Given the description of an element on the screen output the (x, y) to click on. 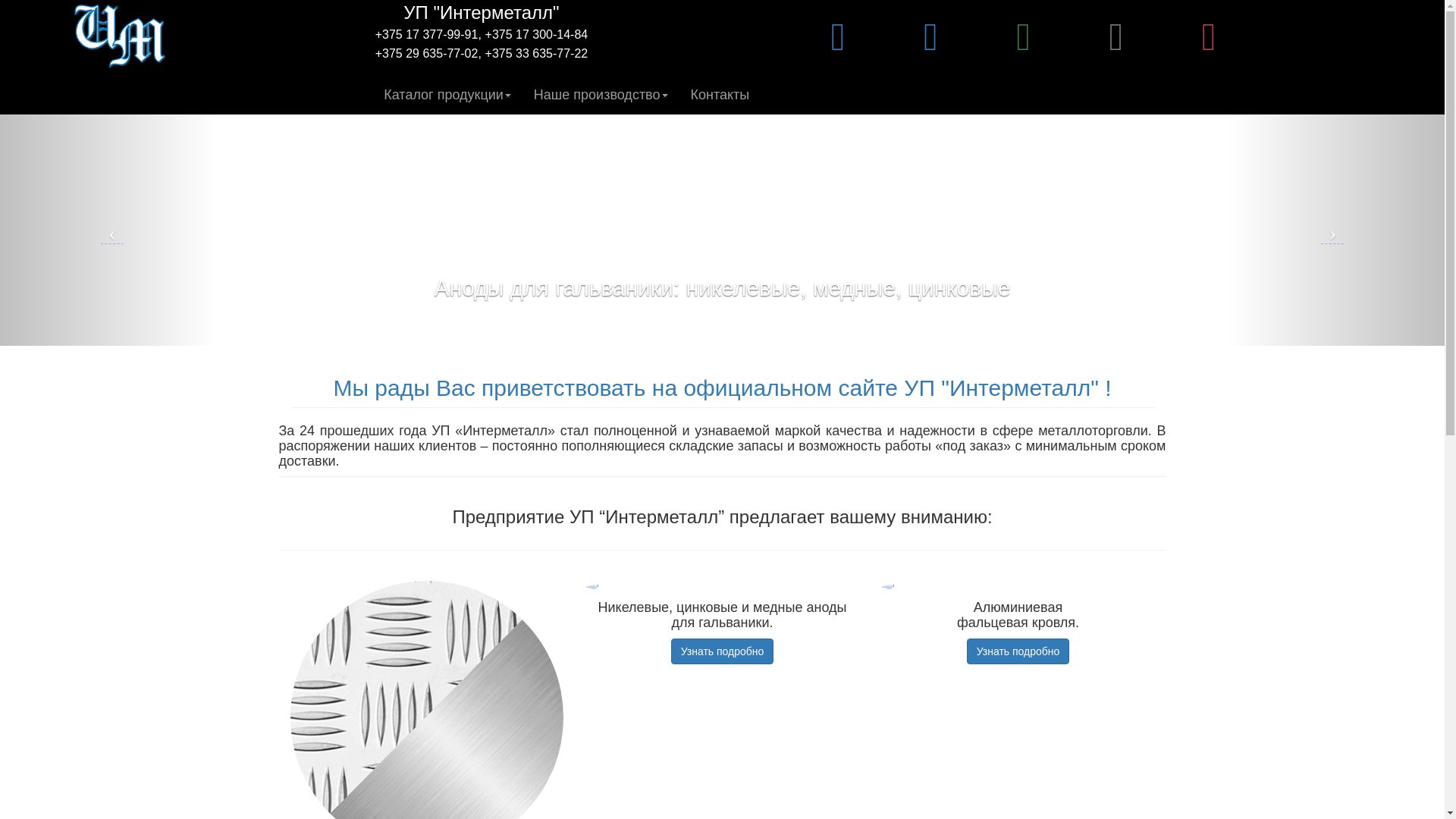
+375 17 300-14-84 Element type: text (536, 34)
+375 29 635-77-02, Element type: text (428, 53)
+375 17 377-99-91, Element type: text (428, 34)
+375 33 635-77-22 Element type: text (536, 53)
